Given the description of an element on the screen output the (x, y) to click on. 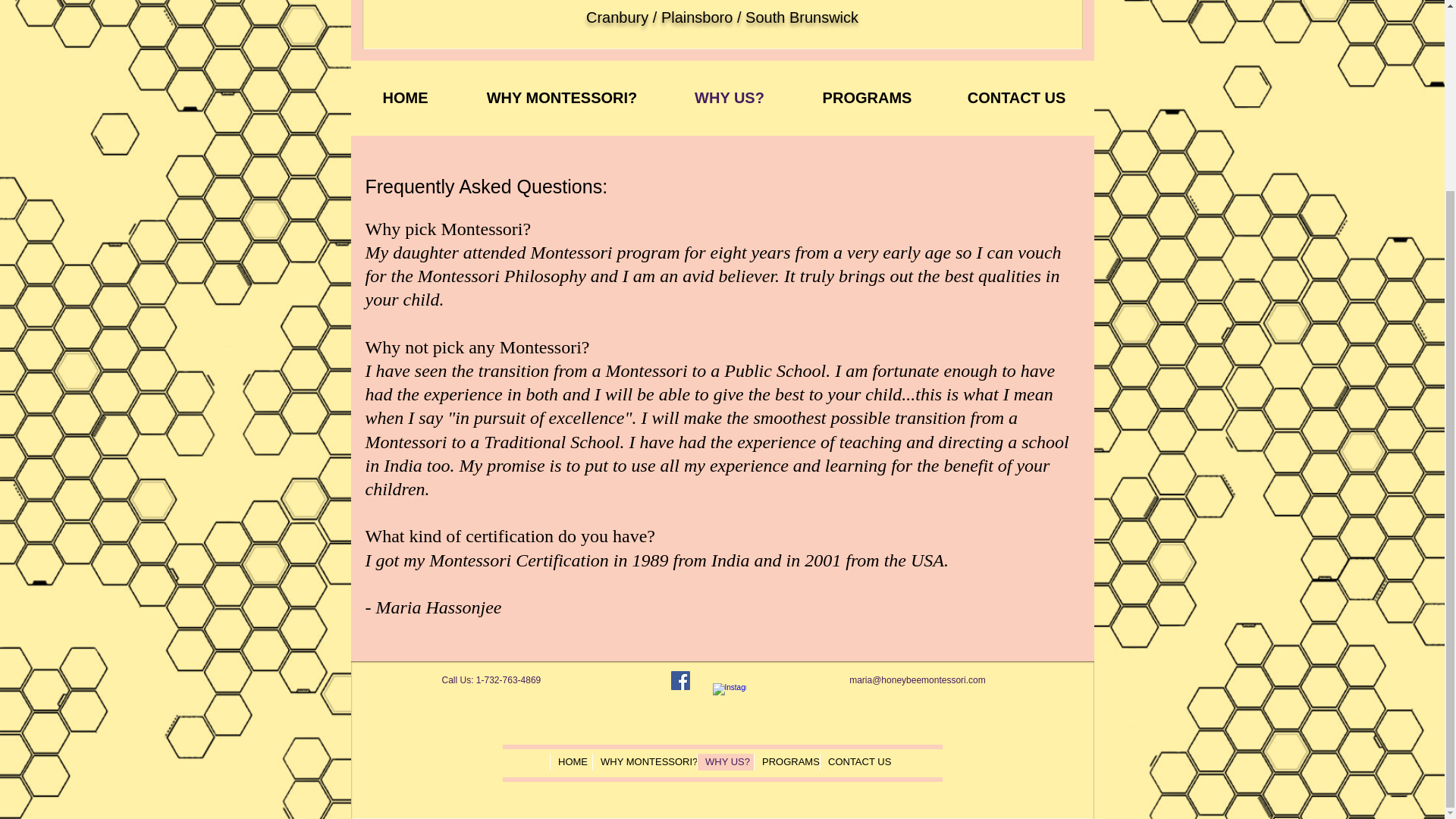
CONTACT US (857, 761)
PROGRAMS (786, 761)
WHY US? (728, 97)
WHY US? (725, 761)
HOME (405, 97)
WHY MONTESSORI? (561, 97)
CONTACT US (1016, 97)
WHY MONTESSORI? (644, 761)
HOME (571, 761)
PROGRAMS (866, 97)
